Given the description of an element on the screen output the (x, y) to click on. 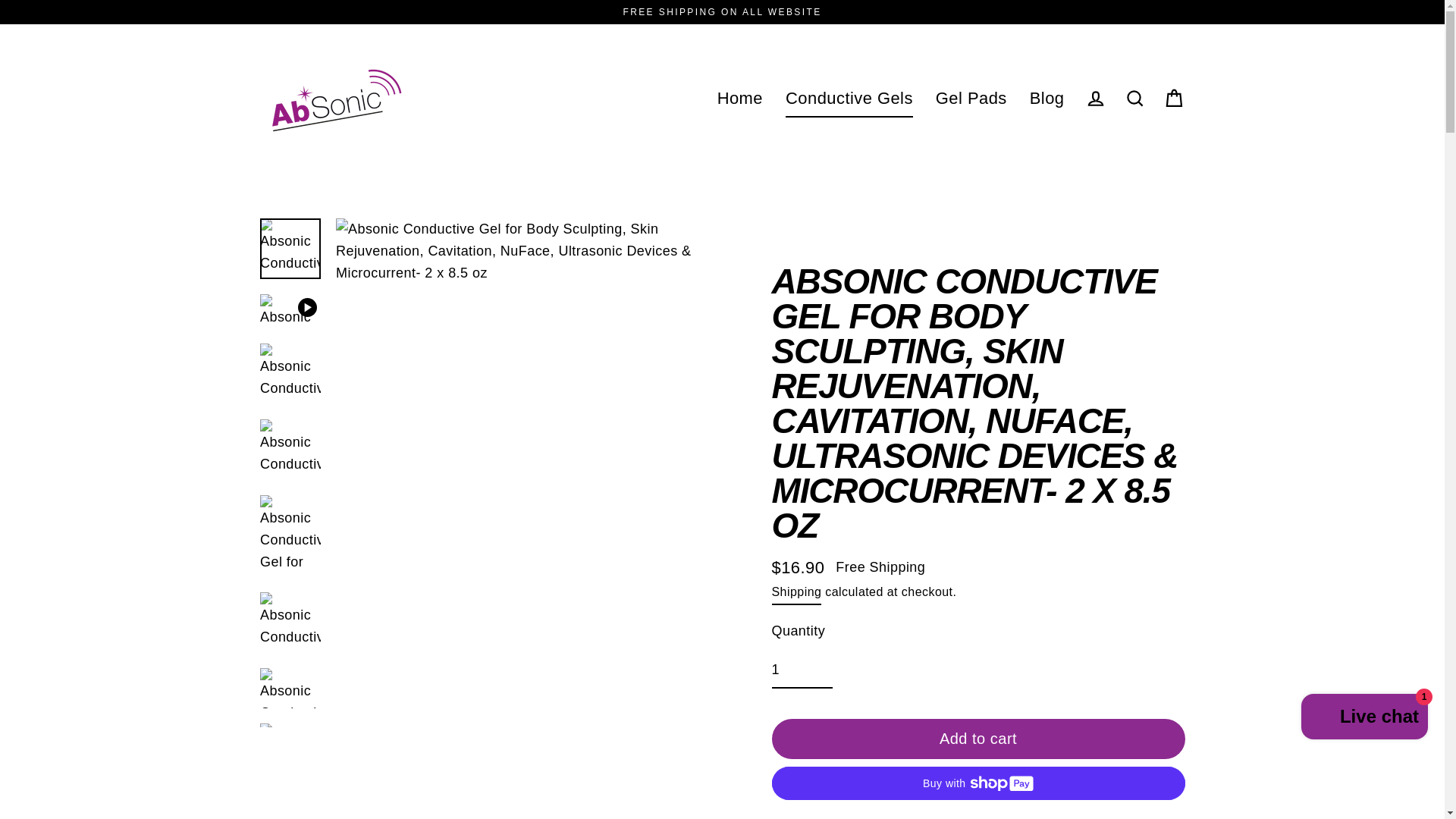
Search (1134, 98)
Add to cart (978, 738)
Gel Pads (970, 98)
Blog (1046, 98)
Shopify online store chat (1364, 717)
Cart (1173, 98)
Log in (1095, 98)
Shipping (796, 593)
Conductive Gels (849, 98)
1 (801, 670)
Home (740, 98)
